Given the description of an element on the screen output the (x, y) to click on. 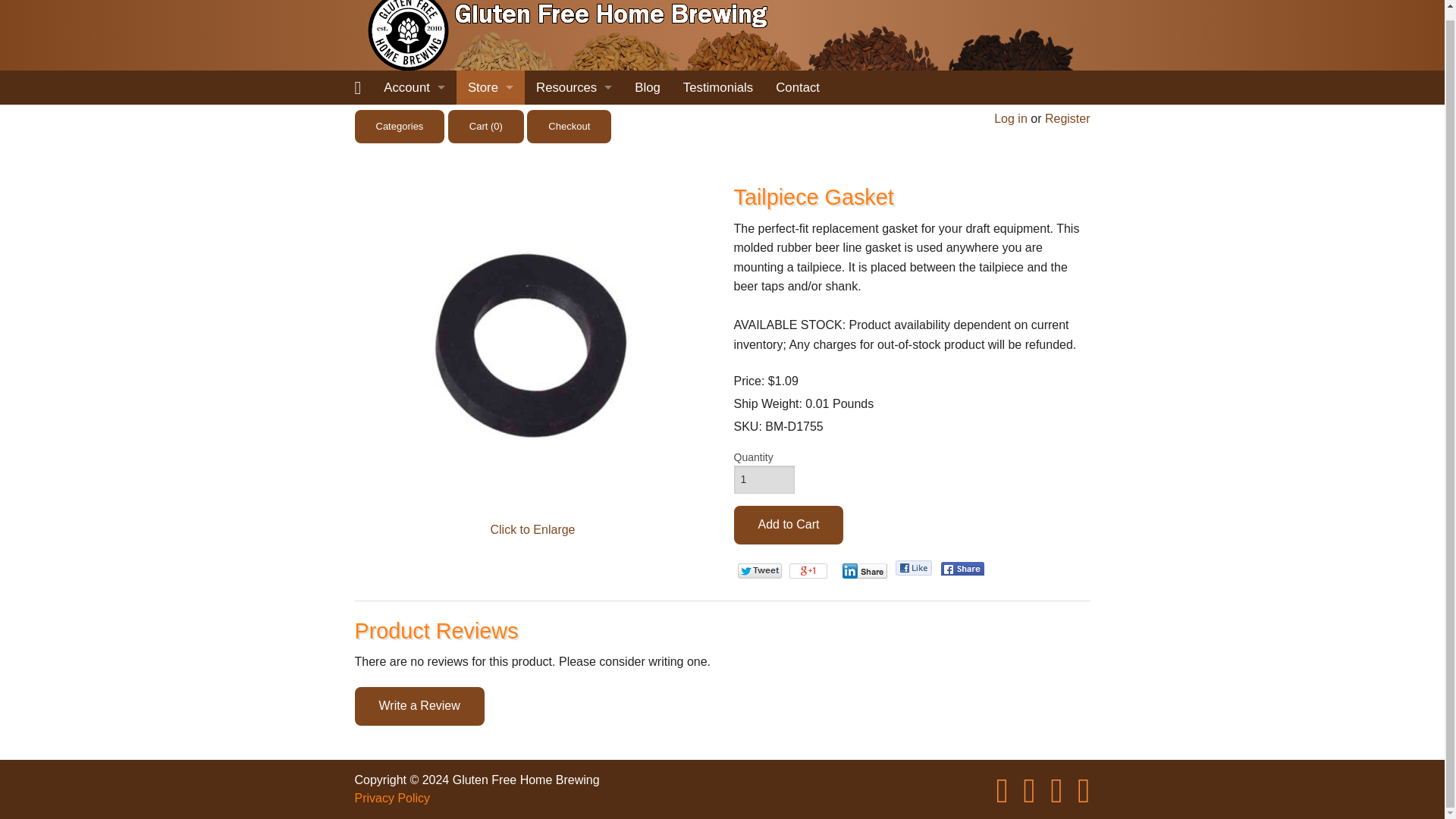
Shipping and Returns (490, 292)
Check Out (490, 189)
Categories (490, 223)
Log in (1010, 118)
Categories (400, 126)
Log In (414, 154)
Resources (573, 87)
Conditions of Use (490, 326)
Privacy Policy (490, 360)
Tutorials (573, 155)
